Given the description of an element on the screen output the (x, y) to click on. 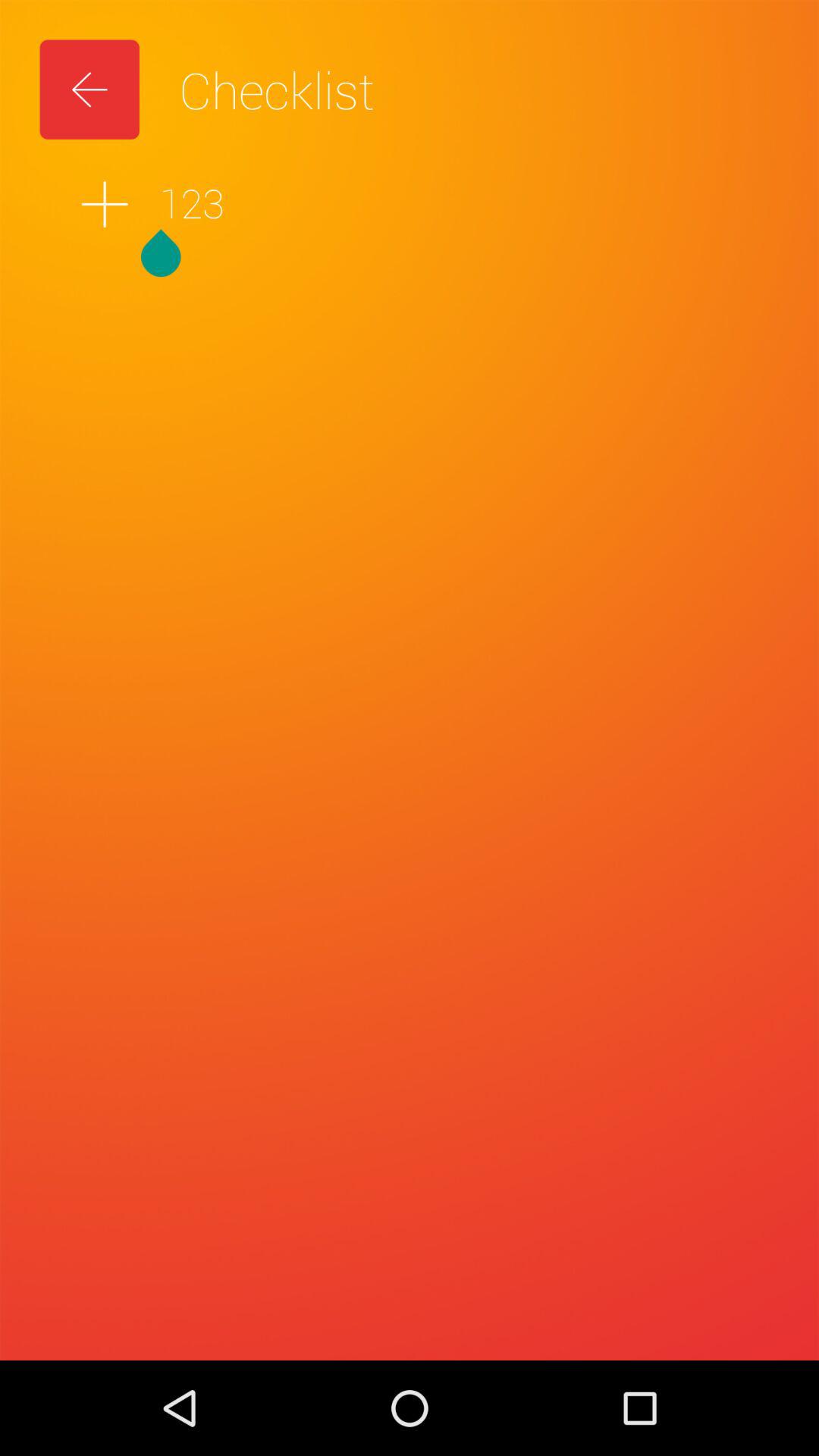
press icon next to the checklist (89, 89)
